Given the description of an element on the screen output the (x, y) to click on. 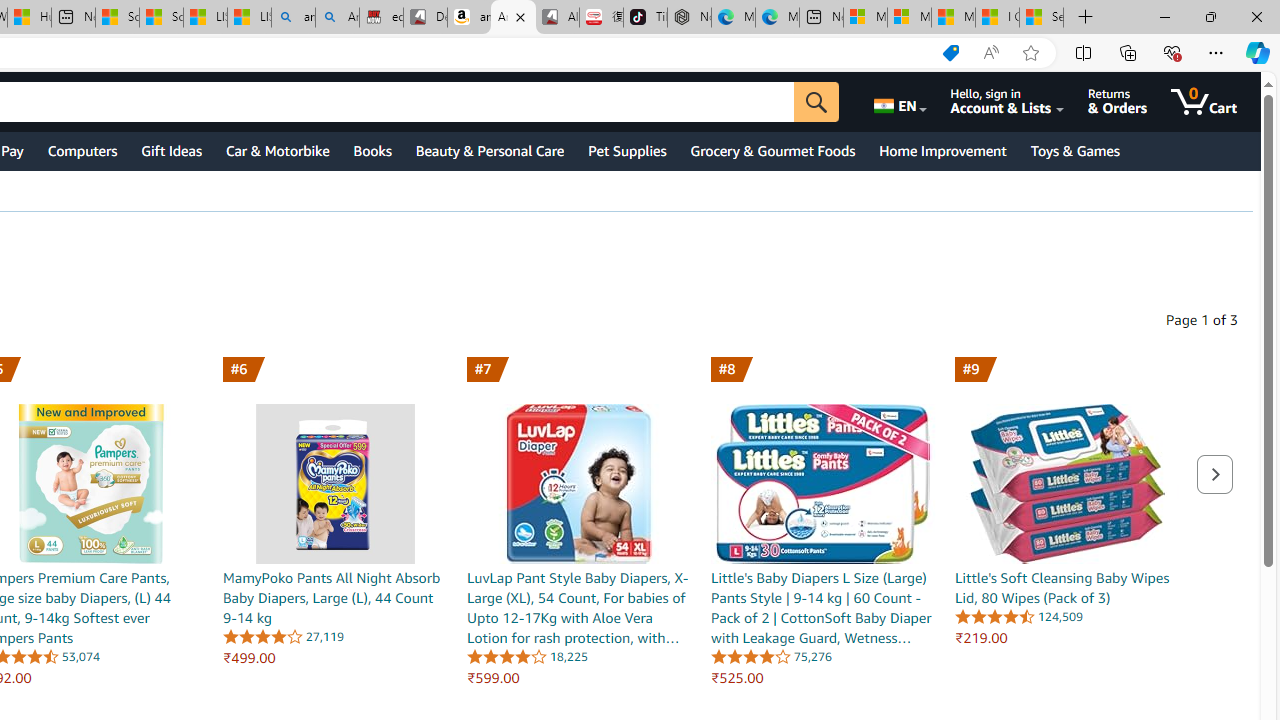
0 items in cart (1203, 101)
Books (372, 150)
Gift Ideas (171, 150)
Go (816, 101)
All Cubot phones (557, 17)
Hello, sign in Account & Lists (1006, 101)
Little's Soft Cleansing Baby Wipes Lid, 80 Wipes (Pack of 3) (1067, 483)
